Given the description of an element on the screen output the (x, y) to click on. 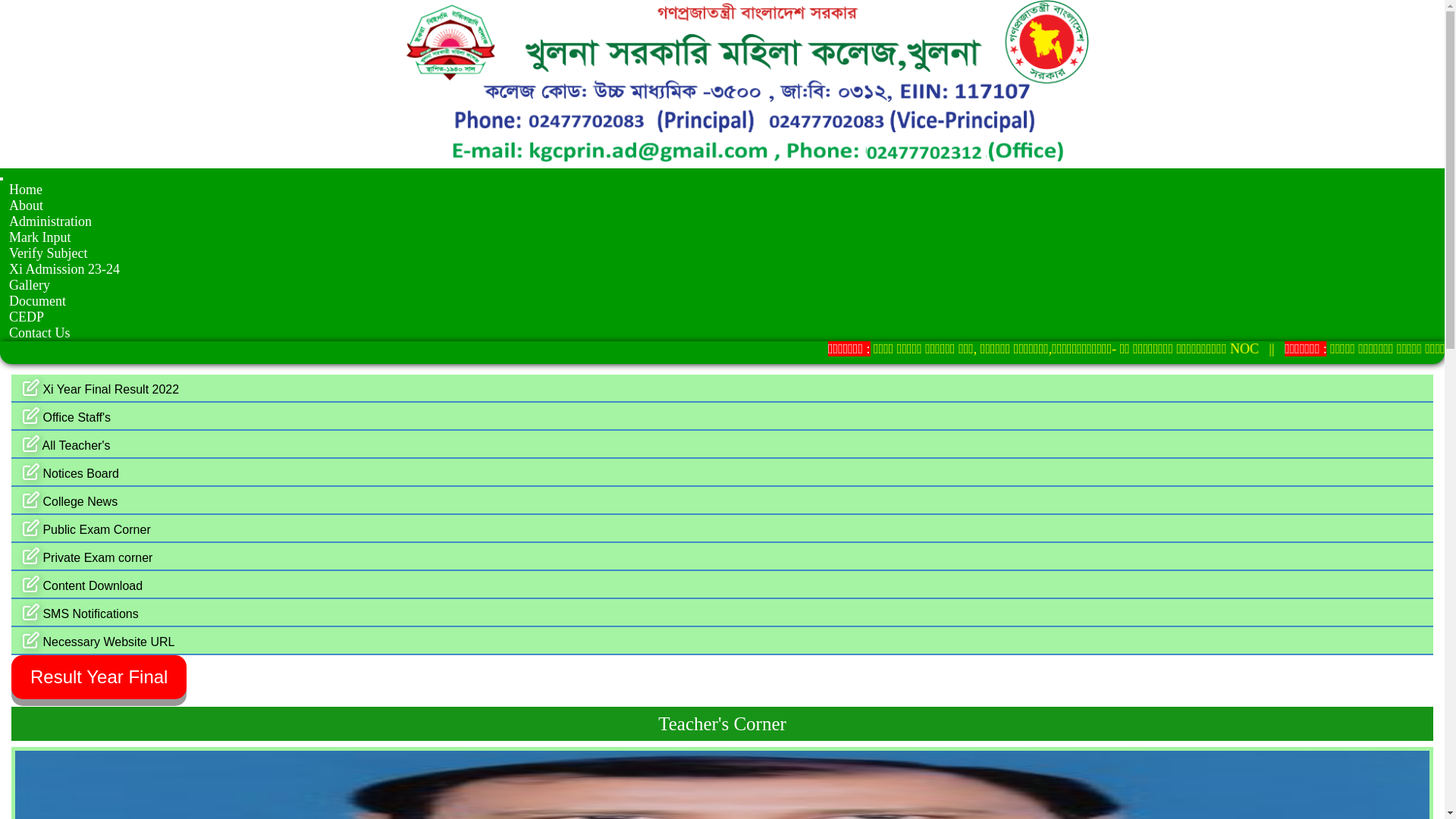
Gallery Element type: text (29, 285)
Office Staff's Element type: text (722, 416)
Home Element type: text (26, 189)
Private Exam corner Element type: text (722, 556)
College News Element type: text (722, 500)
SMS Notifications Element type: text (722, 613)
Xi Admission 23-24 Element type: text (64, 269)
All Teacher's Element type: text (722, 444)
Contact Us Element type: text (40, 333)
Administration Element type: text (50, 221)
Mark Input Element type: text (40, 237)
Document Element type: text (37, 301)
Content Download Element type: text (722, 585)
Public Exam Corner Element type: text (722, 528)
CEDP Element type: text (26, 317)
About Element type: text (26, 205)
Necessary Website URL Element type: text (722, 641)
Verify Subject Element type: text (48, 253)
Notices Board Element type: text (722, 472)
Xi Year Final Result 2022 Element type: text (722, 388)
Result Year Final Element type: text (98, 677)
